Given the description of an element on the screen output the (x, y) to click on. 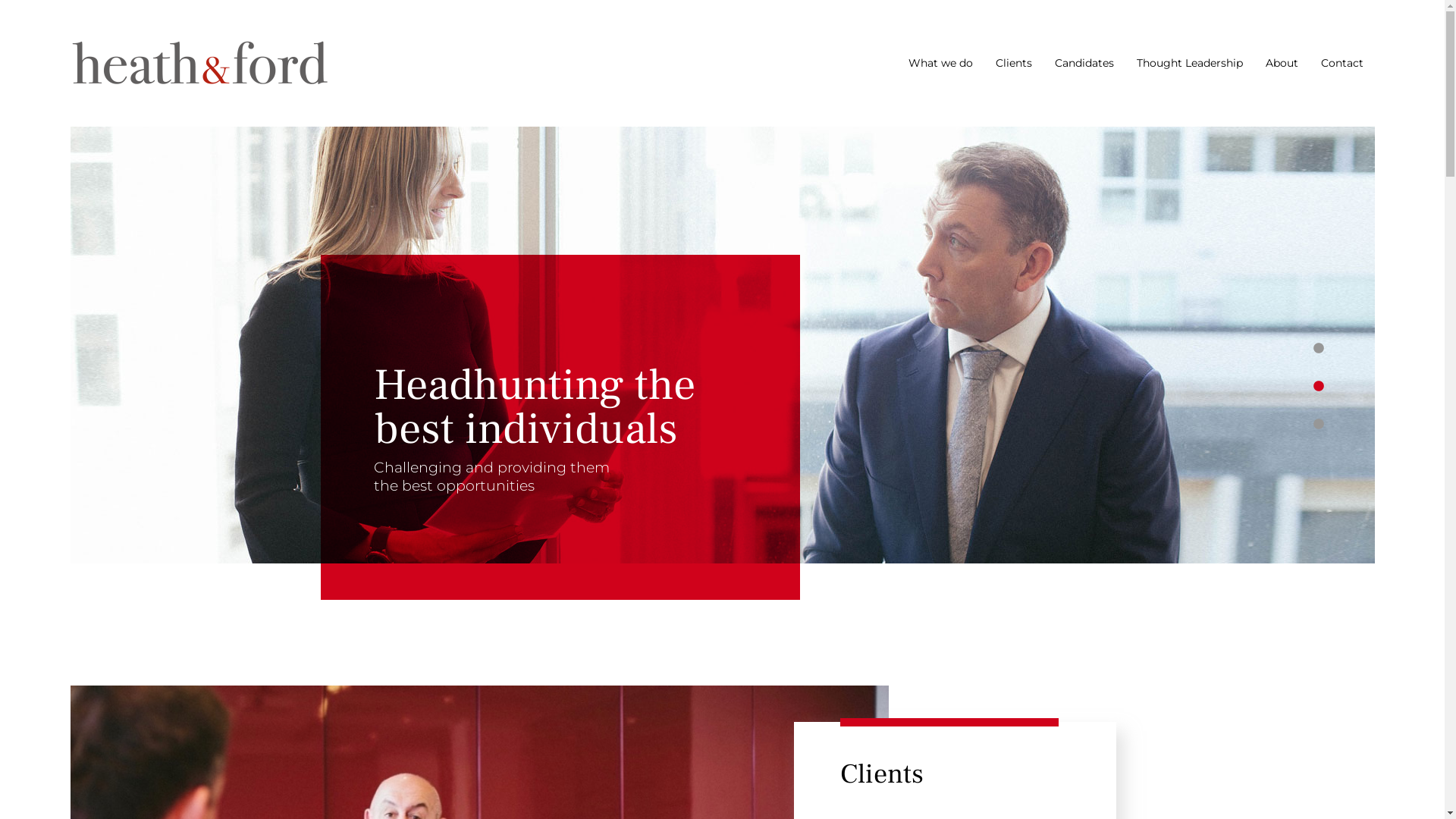
2 Element type: text (1317, 386)
3 Element type: text (1317, 424)
About Element type: text (1280, 62)
Contact Element type: text (1342, 62)
What we do Element type: text (940, 62)
Thought Leadership Element type: text (1188, 62)
1 Element type: text (1317, 348)
Candidates Element type: text (1083, 62)
Clients Element type: text (1012, 62)
